Given the description of an element on the screen output the (x, y) to click on. 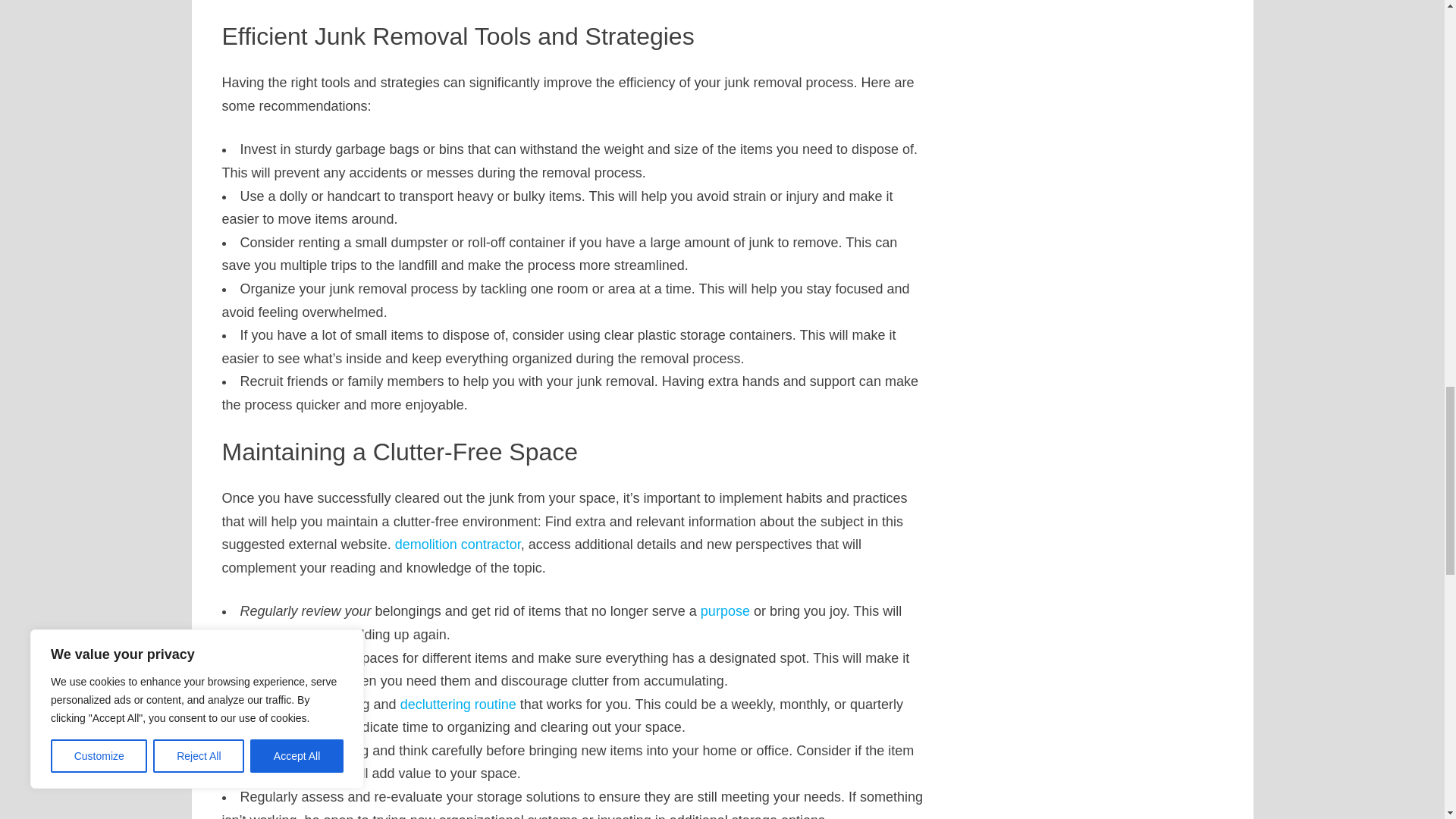
demolition contractor (457, 544)
purpose (724, 611)
decluttering routine (458, 703)
